Given the description of an element on the screen output the (x, y) to click on. 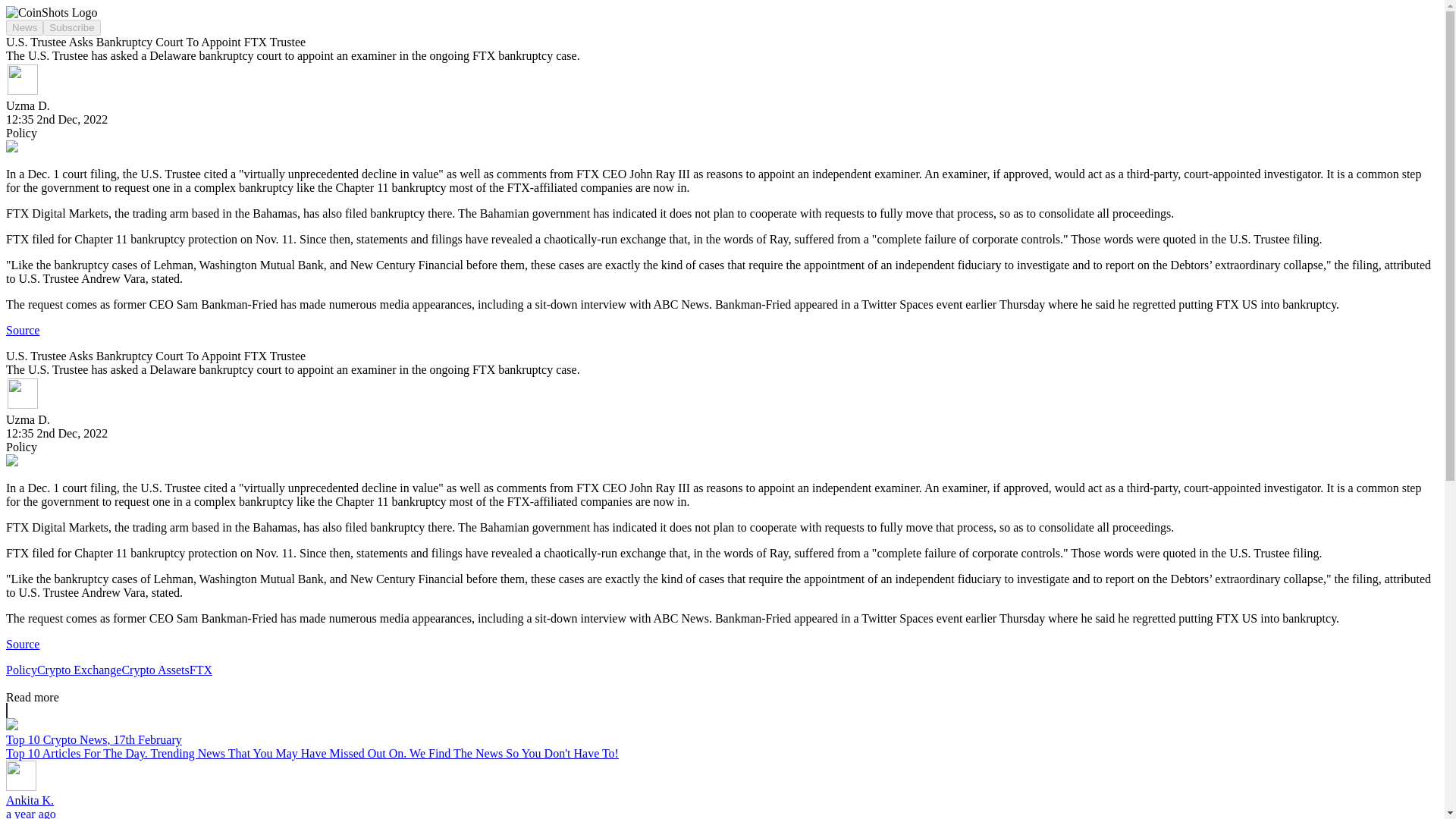
Crypto Assets (154, 669)
News (24, 27)
Source (22, 329)
FTX (200, 669)
Subscribe (71, 27)
Crypto Exchange (79, 669)
Source (22, 644)
Policy (21, 669)
